Given the description of an element on the screen output the (x, y) to click on. 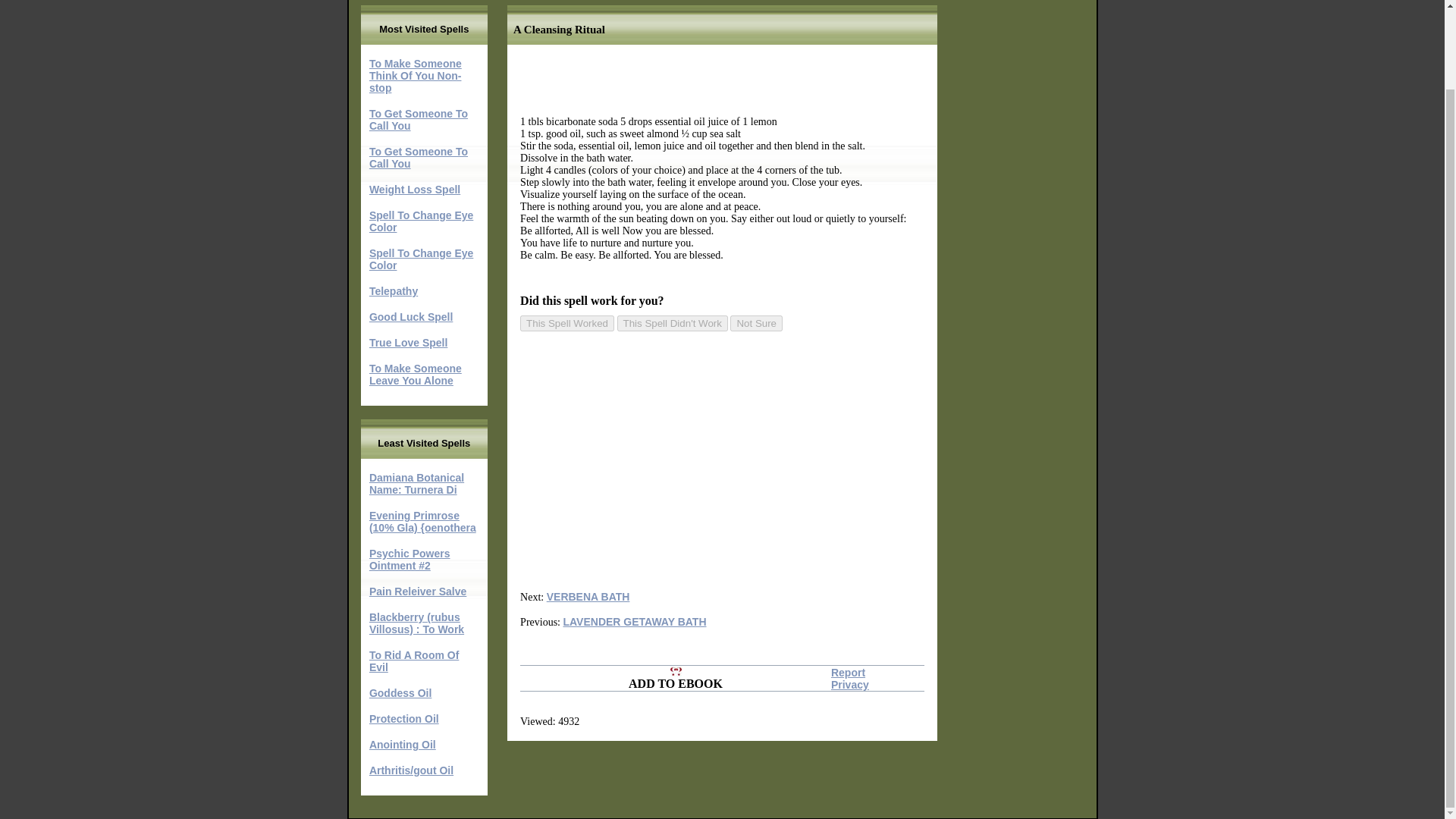
Spell To Change Eye Color (421, 221)
Not Sure (756, 323)
This Spell Worked (566, 323)
Anointing Oil (402, 744)
To Rid A Room Of Evil (413, 661)
This Spell Didn't Work (672, 323)
To Make Someone Think Of You Non-stop (415, 75)
To Get Someone To Call You (418, 157)
Advertisement (701, 459)
Not Sure (756, 323)
Privacy (850, 684)
To Make Someone Leave You Alone (415, 374)
Pain Releiver Salve (417, 591)
This Spell Didn't Work (672, 323)
VERBENA BATH (588, 596)
